Given the description of an element on the screen output the (x, y) to click on. 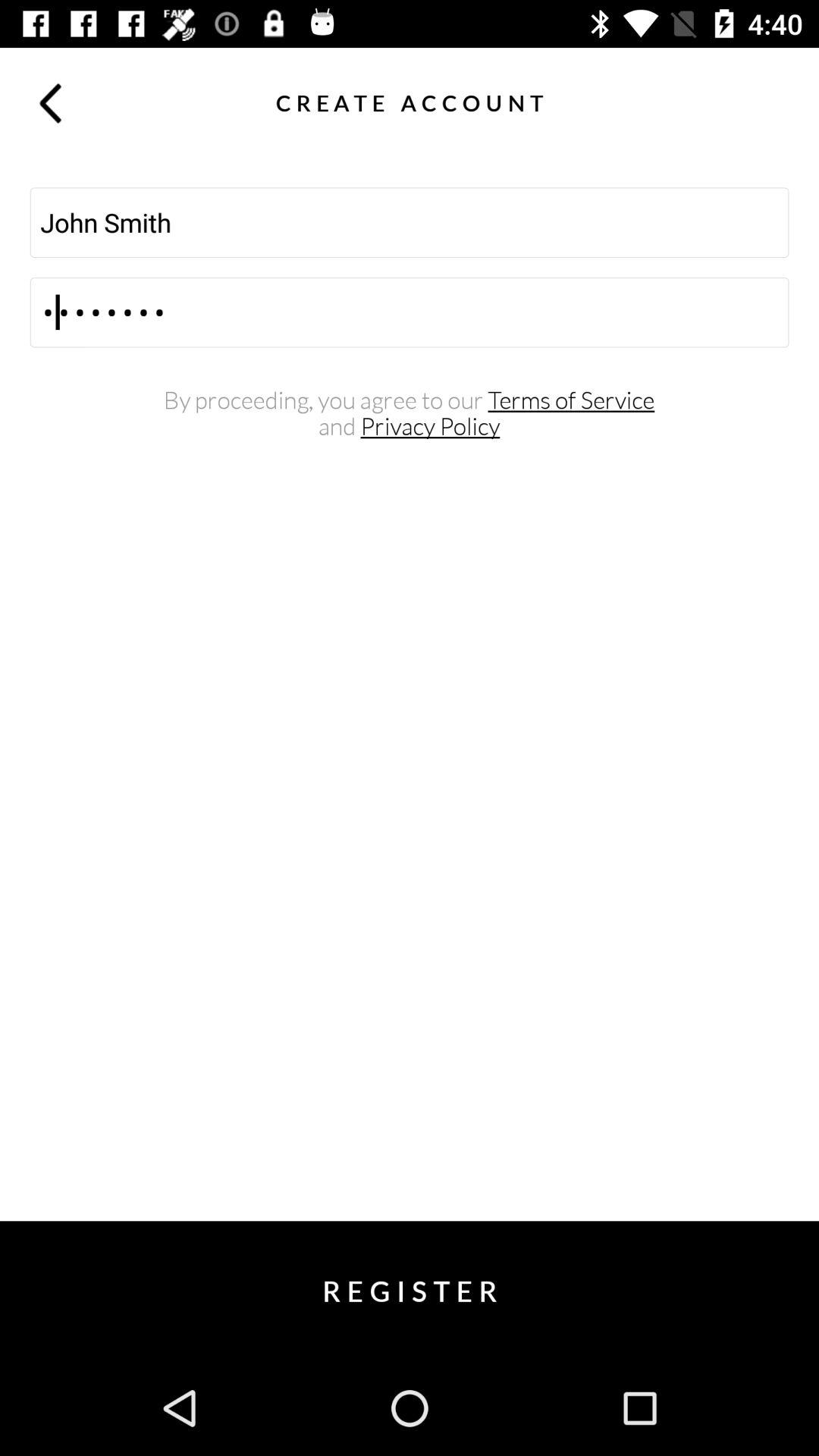
turn on the icon above the crod3116 (409, 222)
